Given the description of an element on the screen output the (x, y) to click on. 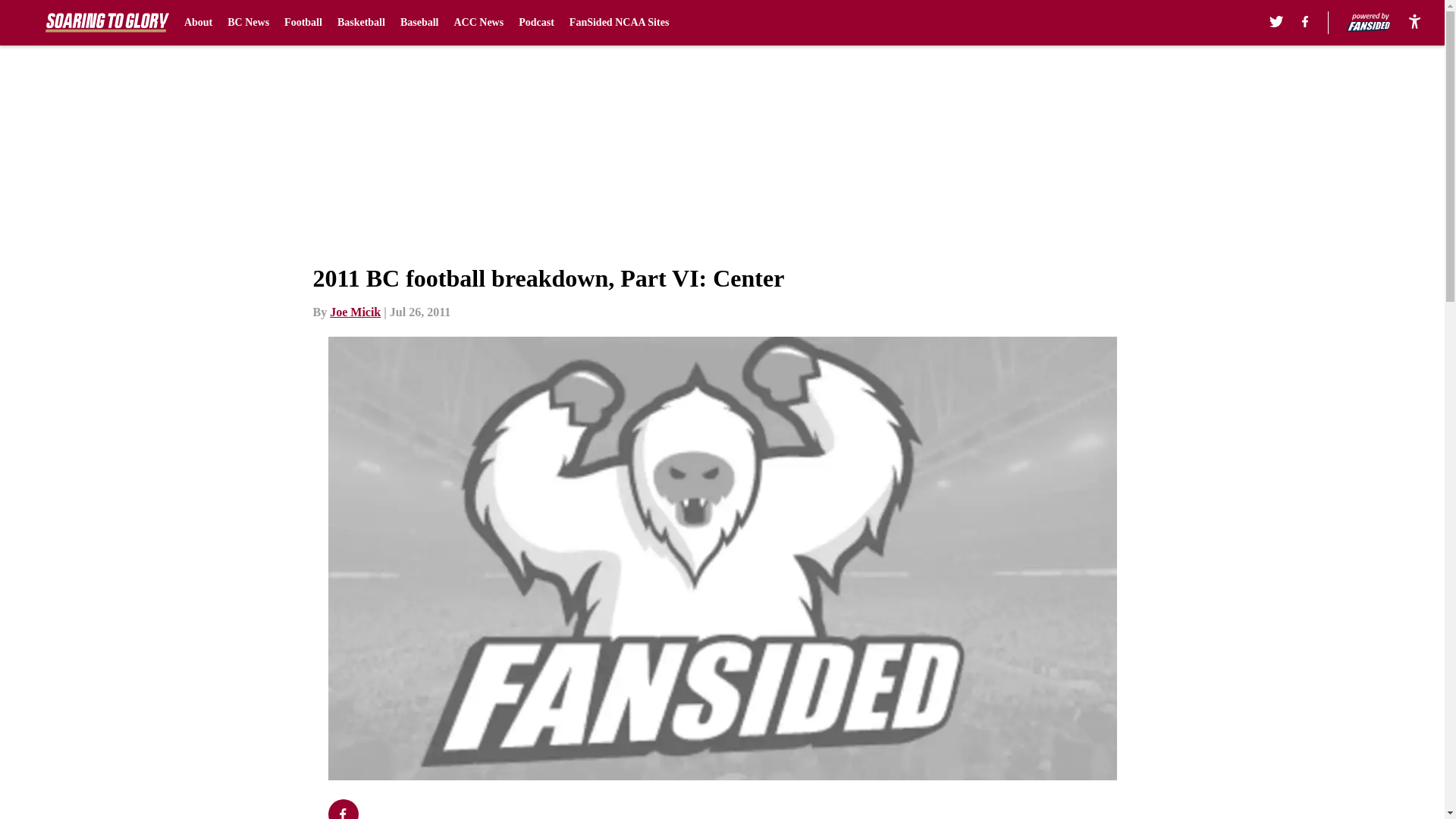
Baseball (419, 22)
Joe Micik (355, 311)
Basketball (361, 22)
FanSided NCAA Sites (618, 22)
About (198, 22)
BC News (248, 22)
ACC News (477, 22)
Football (302, 22)
Podcast (536, 22)
